Given the description of an element on the screen output the (x, y) to click on. 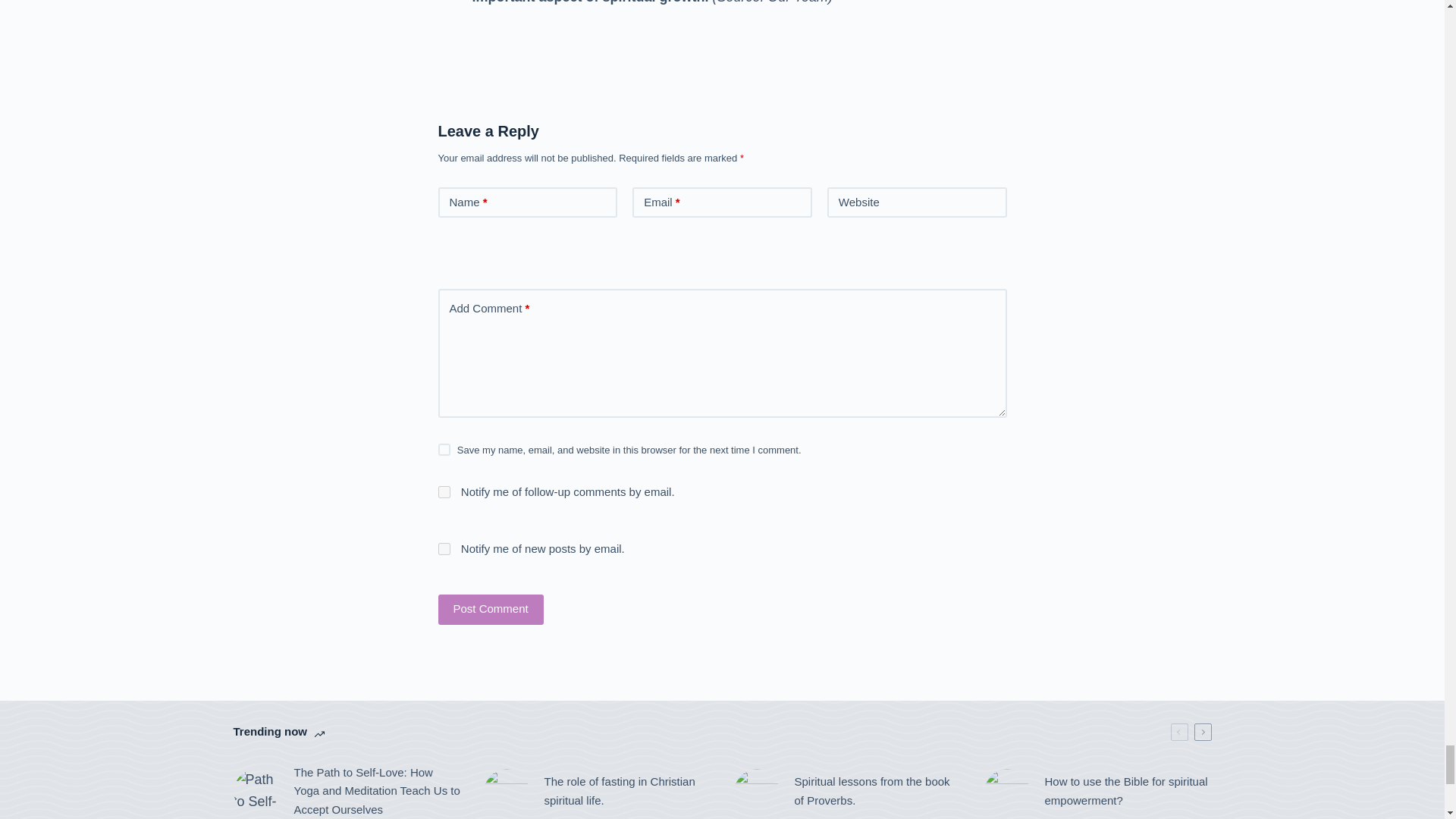
yes (443, 449)
subscribe (443, 548)
subscribe (443, 491)
